Given the description of an element on the screen output the (x, y) to click on. 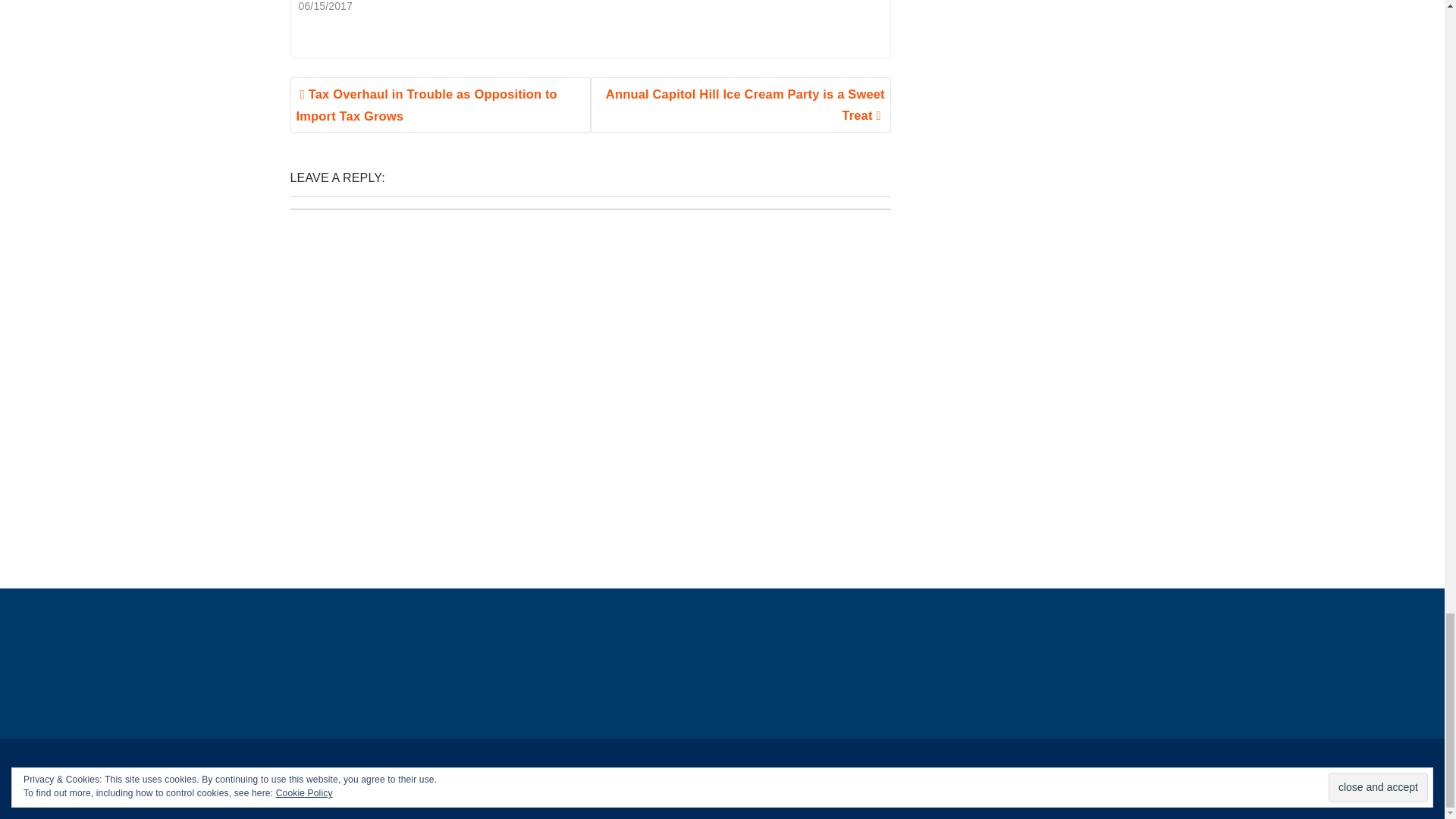
Tax Overhaul in Trouble as Opposition to Import Tax Grows (439, 104)
Annual Capitol Hill Ice Cream Party is a Sweet Treat (741, 104)
